Given the description of an element on the screen output the (x, y) to click on. 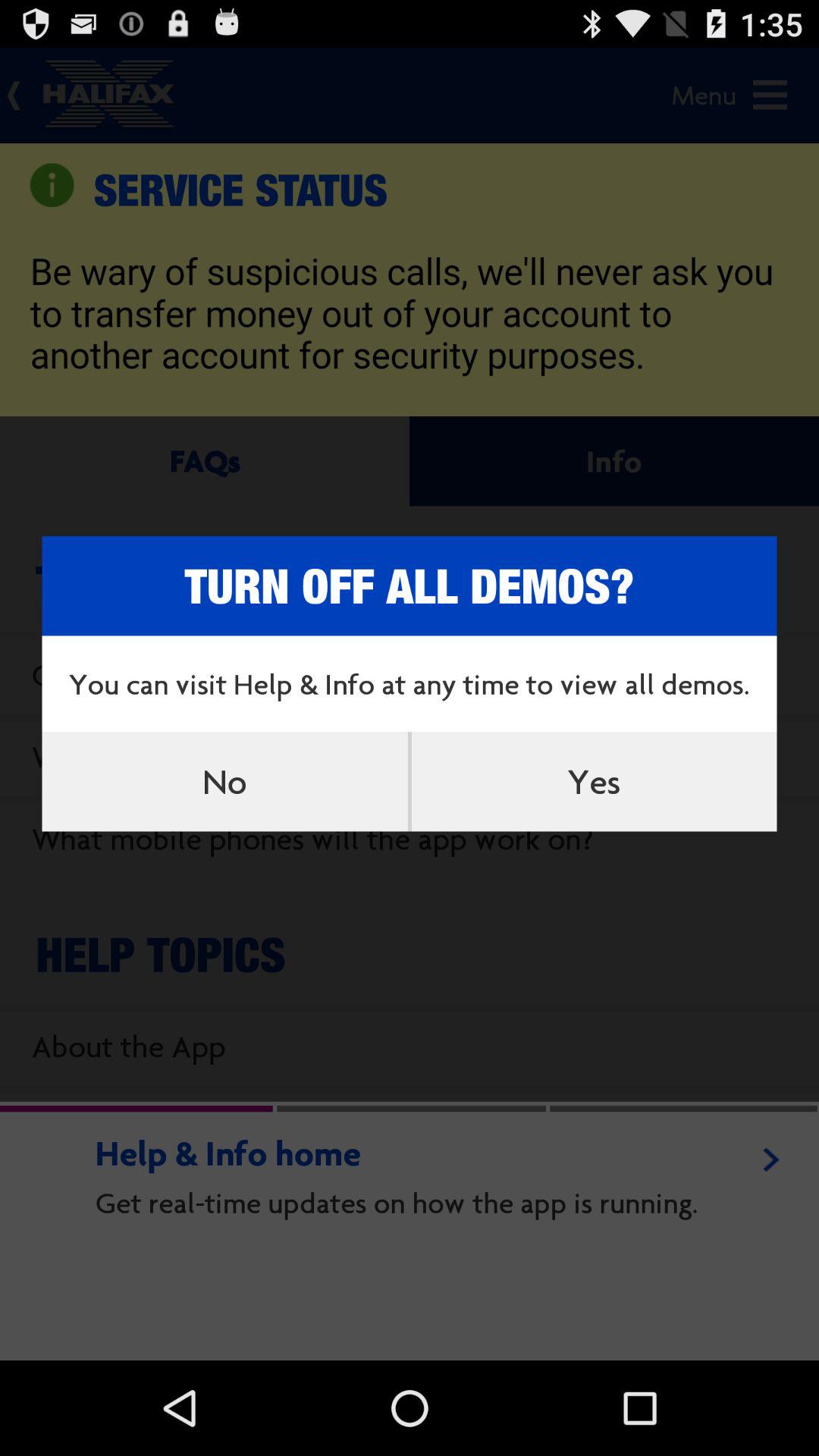
choose item on the right (593, 781)
